Given the description of an element on the screen output the (x, y) to click on. 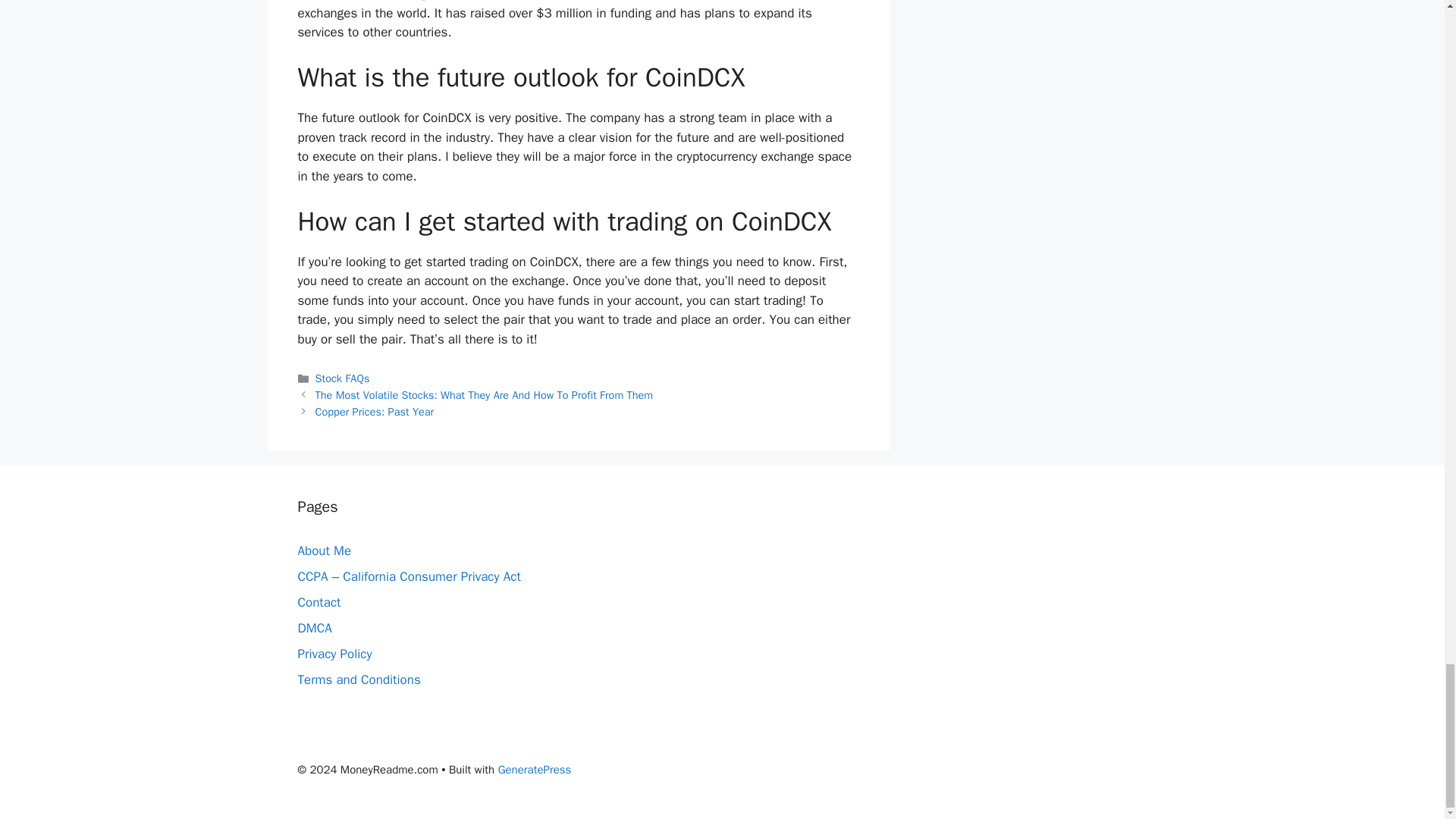
Copper Prices: Past Year (374, 411)
Stock FAQs (342, 377)
